Given the description of an element on the screen output the (x, y) to click on. 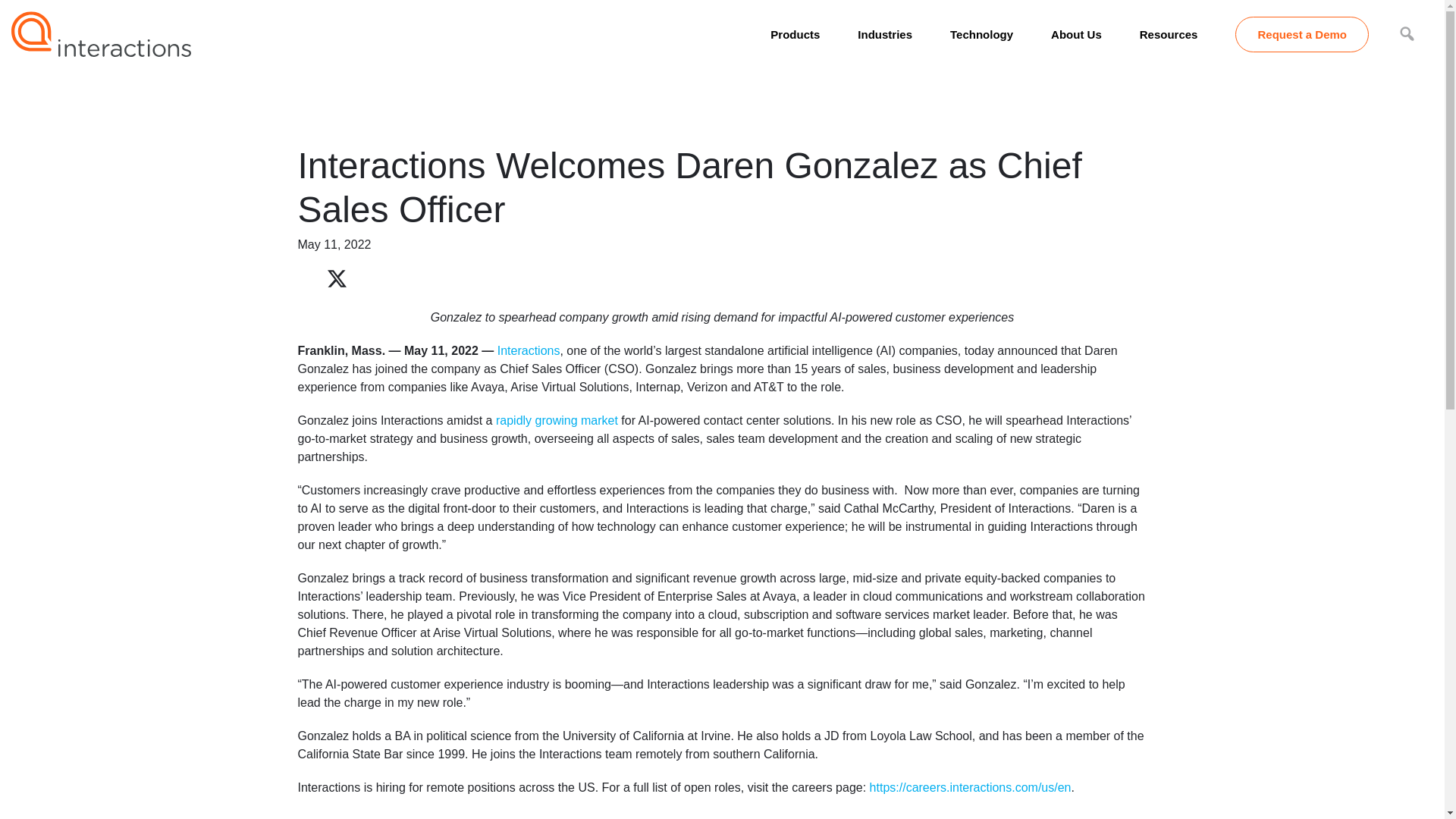
Industries (884, 33)
Technology (981, 33)
Search (15, 8)
Interactions (100, 32)
Products (794, 33)
About Us (1076, 33)
